Given the description of an element on the screen output the (x, y) to click on. 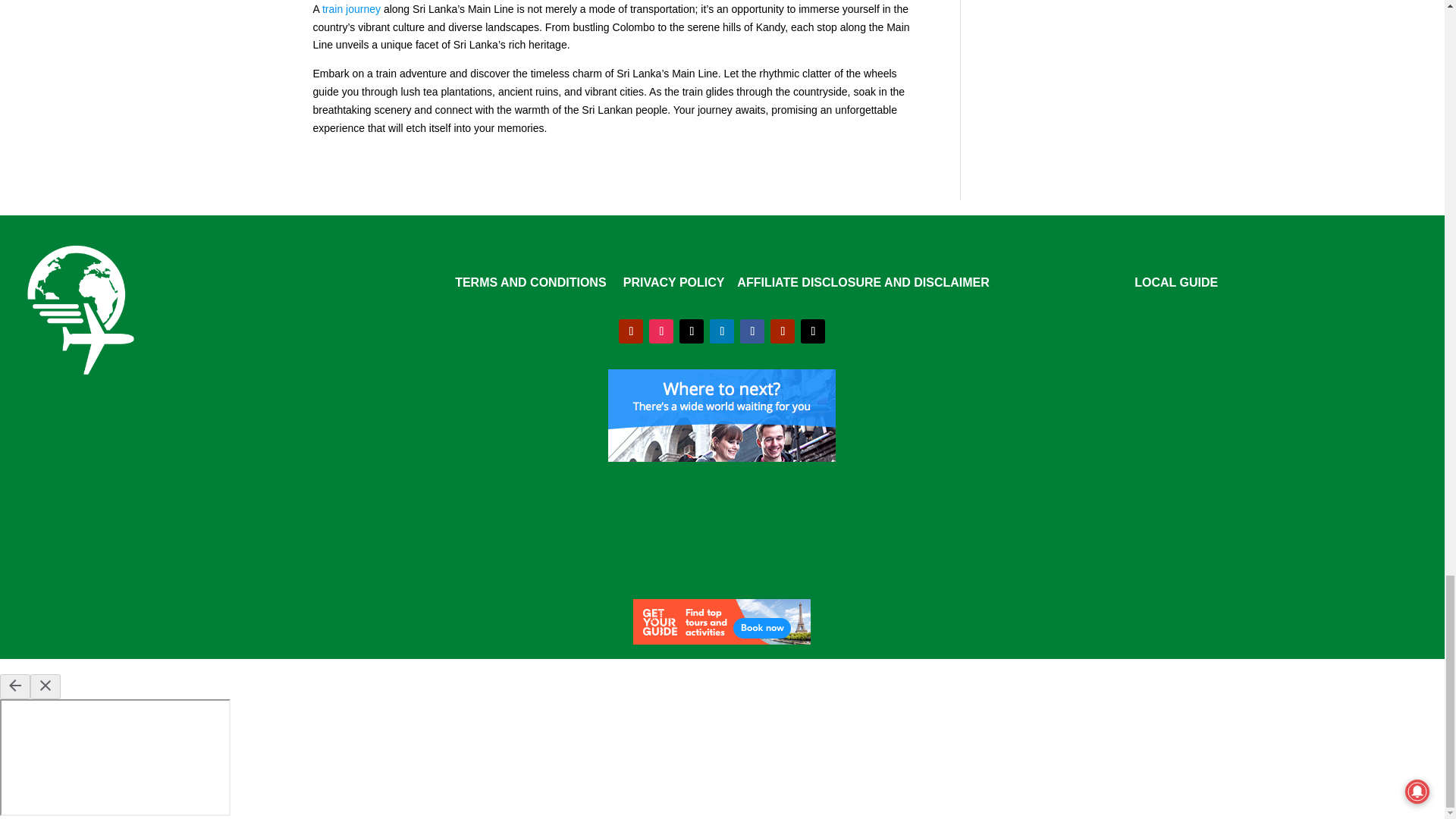
Follow on LinkedIn (721, 331)
Follow on TikTok (691, 331)
TERMS AND CONDITIONS (529, 282)
Follow on X (812, 331)
PRIVACY POLICY  (675, 282)
Follow on Instagram (660, 331)
Follow on Youtube (630, 331)
train journey (350, 9)
AFFILIATE DISCLOSURE AND DISCLAIMER (862, 282)
Follow on Facebook (751, 331)
